Given the description of an element on the screen output the (x, y) to click on. 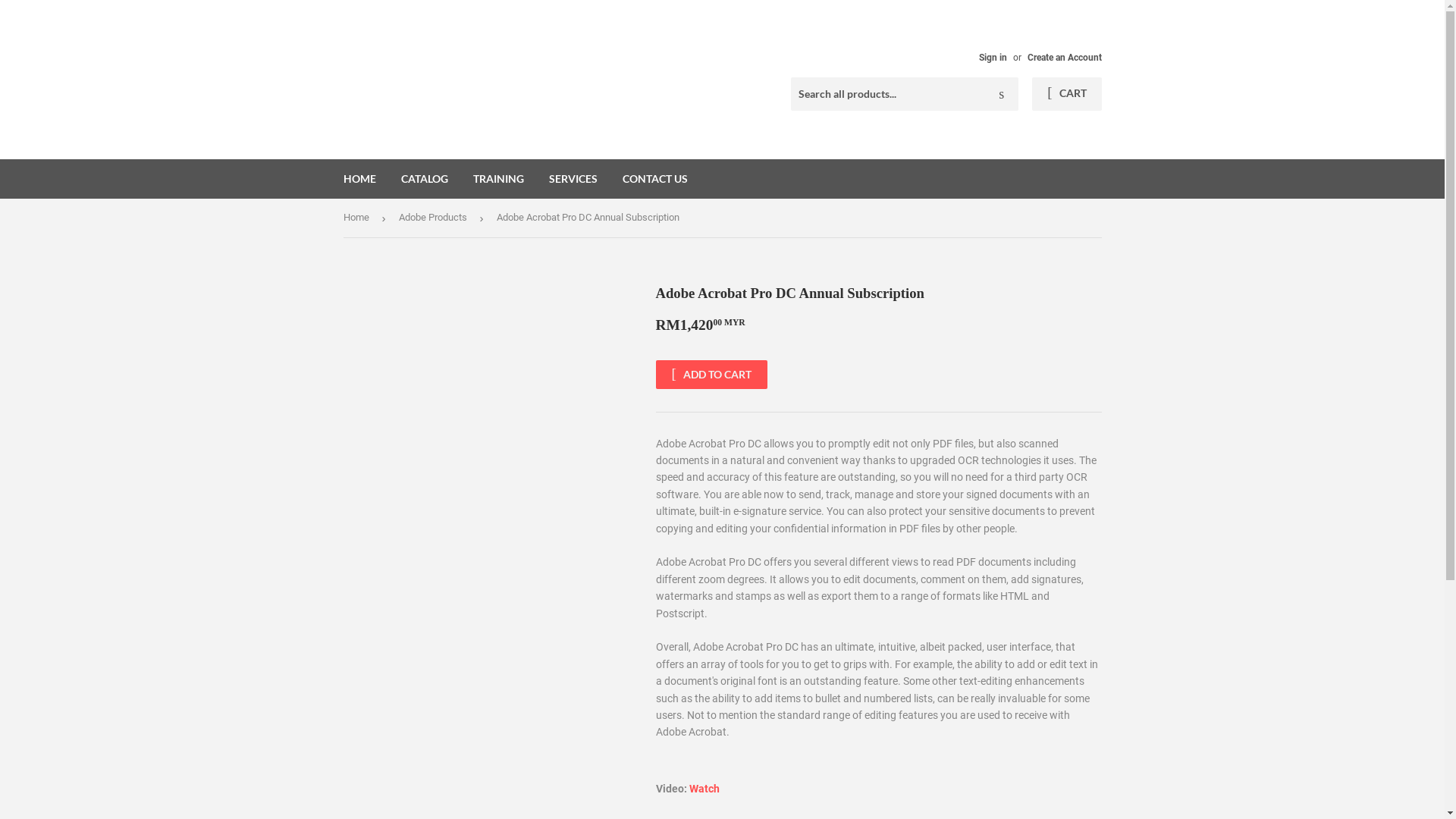
Create an Account Element type: text (1063, 57)
ADD TO CART Element type: text (710, 374)
CART Element type: text (1066, 93)
Watch Element type: text (703, 788)
CATALOG Element type: text (424, 178)
TRAINING Element type: text (497, 178)
Search Element type: text (1001, 94)
Sign in Element type: text (992, 57)
SERVICES Element type: text (572, 178)
CONTACT US Element type: text (655, 178)
HOME Element type: text (359, 178)
Home Element type: text (357, 217)
Adobe Products Element type: text (435, 217)
